Given the description of an element on the screen output the (x, y) to click on. 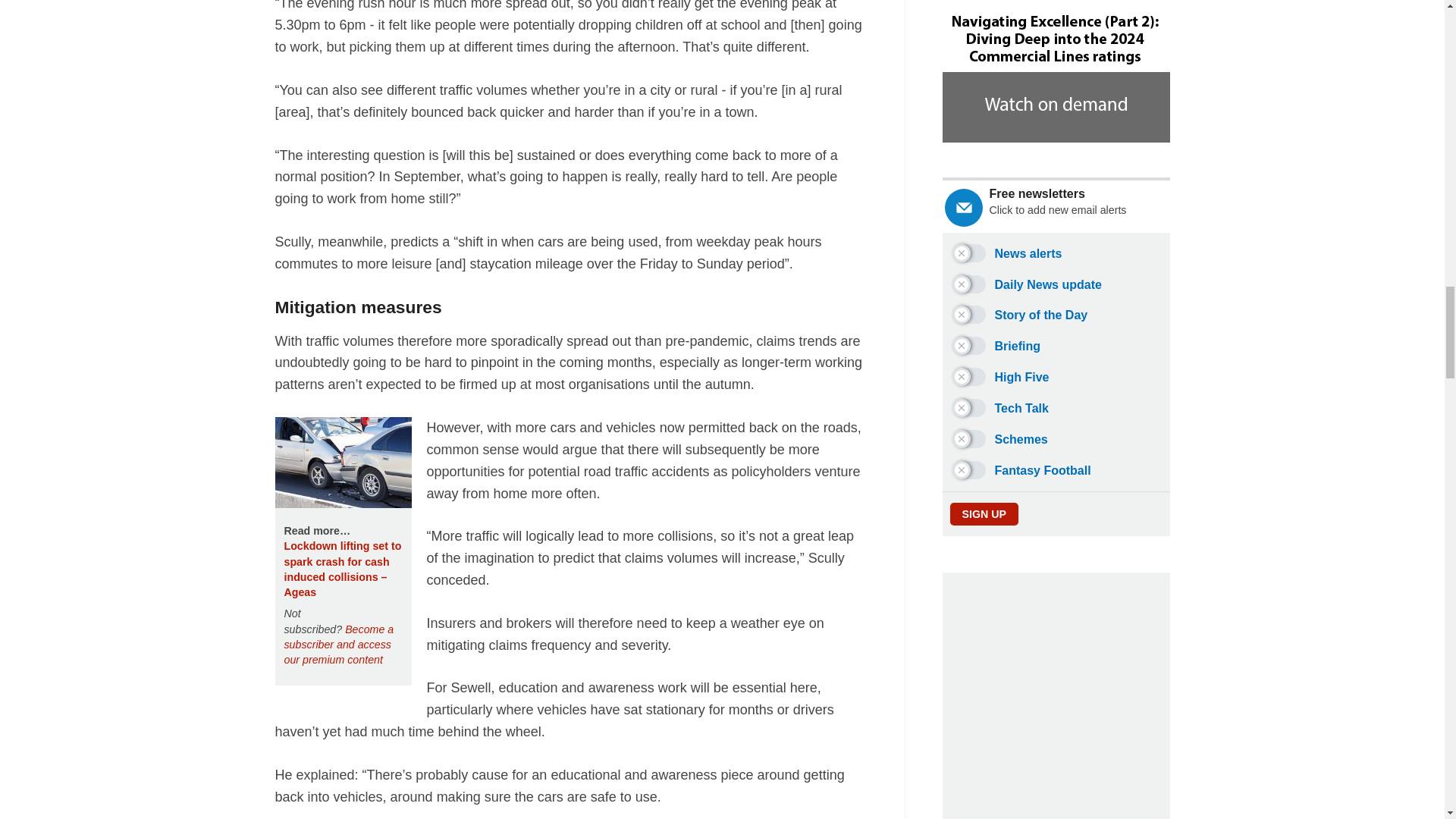
3rd party ad content (1055, 695)
